Given the description of an element on the screen output the (x, y) to click on. 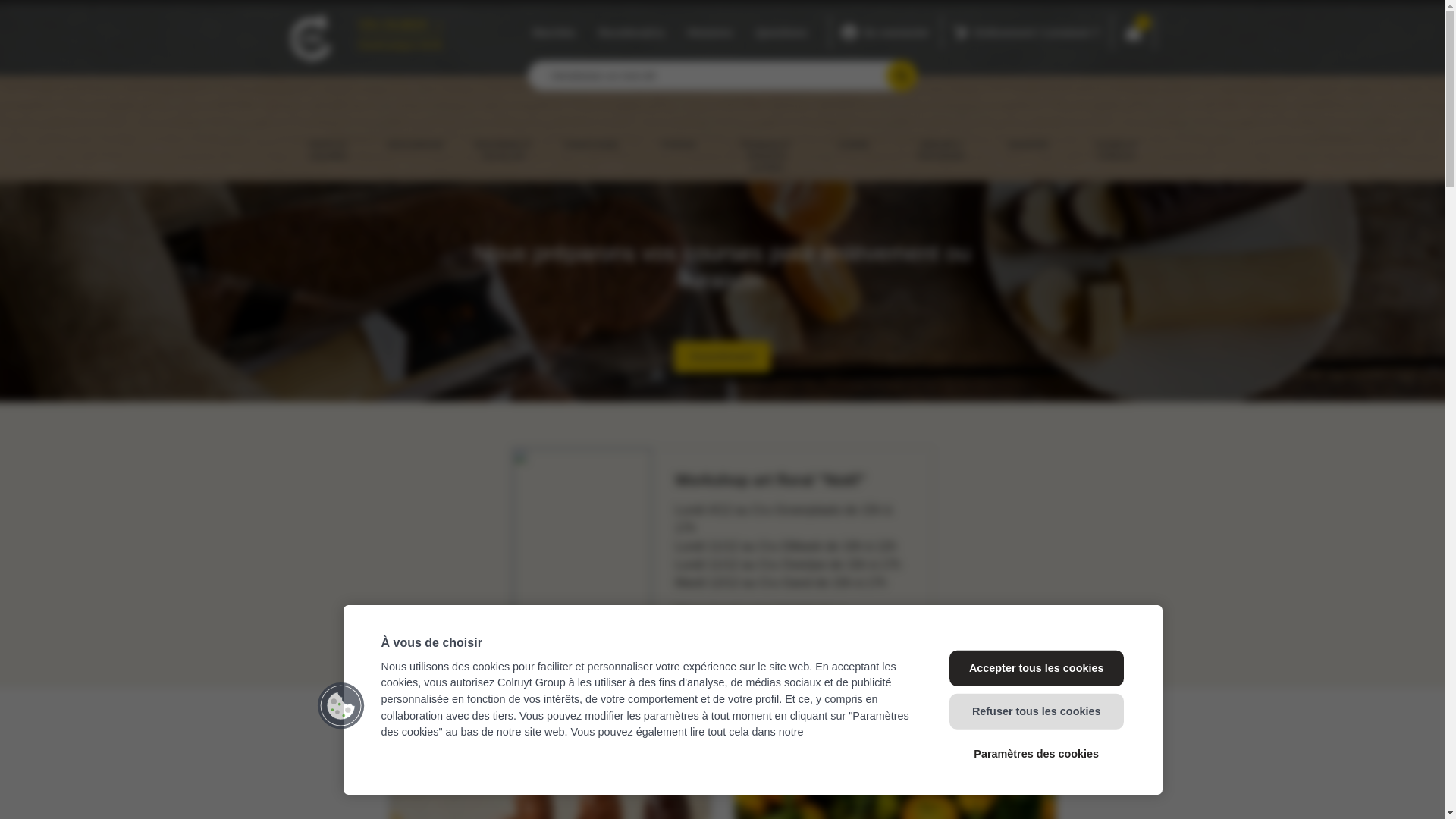
Questions Element type: text (780, 32)
CUISINE Element type: text (853, 127)
POISSON Element type: text (678, 127)
Accepter tous les cookies Element type: text (1036, 668)
BOUCHERIE ET VOLAILLER Element type: text (503, 133)
BOISSONS Element type: text (1028, 127)
BOULANGERIE Element type: text (415, 127)
Recettes&Co Element type: text (631, 32)
Histoires Element type: text (709, 32)
FLEURS ET CADEAUX Element type: text (1116, 133)
FROMAGE ET PRODUITS LAITIERS Element type: text (766, 139)
CHARCUTERIE Element type: text (590, 127)
Vous pouvez vous inscrire ici Element type: text (759, 611)
Cookies Button Element type: text (340, 704)
Zoeken Element type: text (901, 75)
Assortiment Element type: text (721, 356)
Se connecter Element type: text (885, 32)
Refuser tous les cookies Element type: text (1036, 710)
Accueil Element type: text (312, 37)
